Given the description of an element on the screen output the (x, y) to click on. 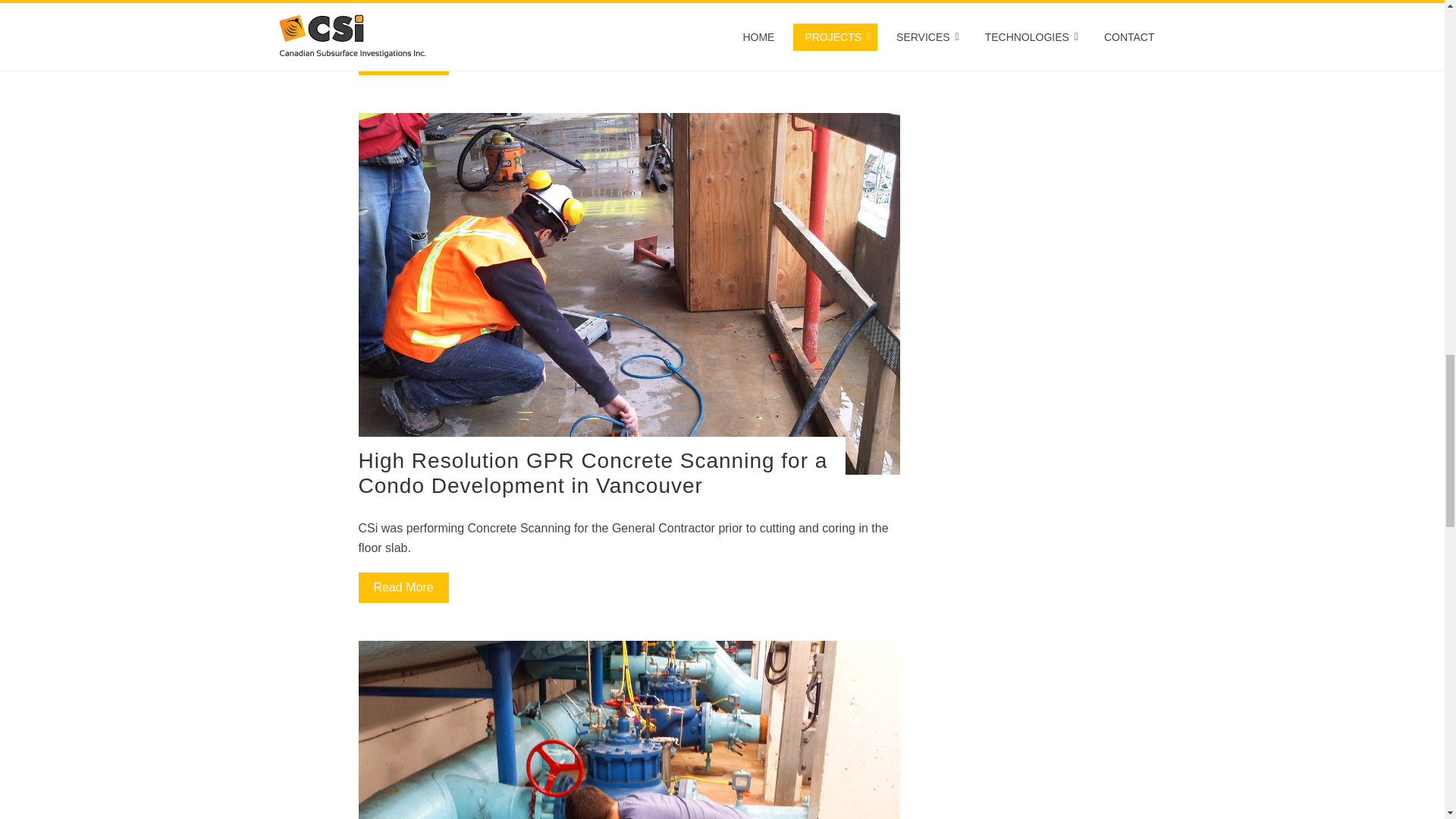
Read More (403, 587)
Read More (403, 60)
